Given the description of an element on the screen output the (x, y) to click on. 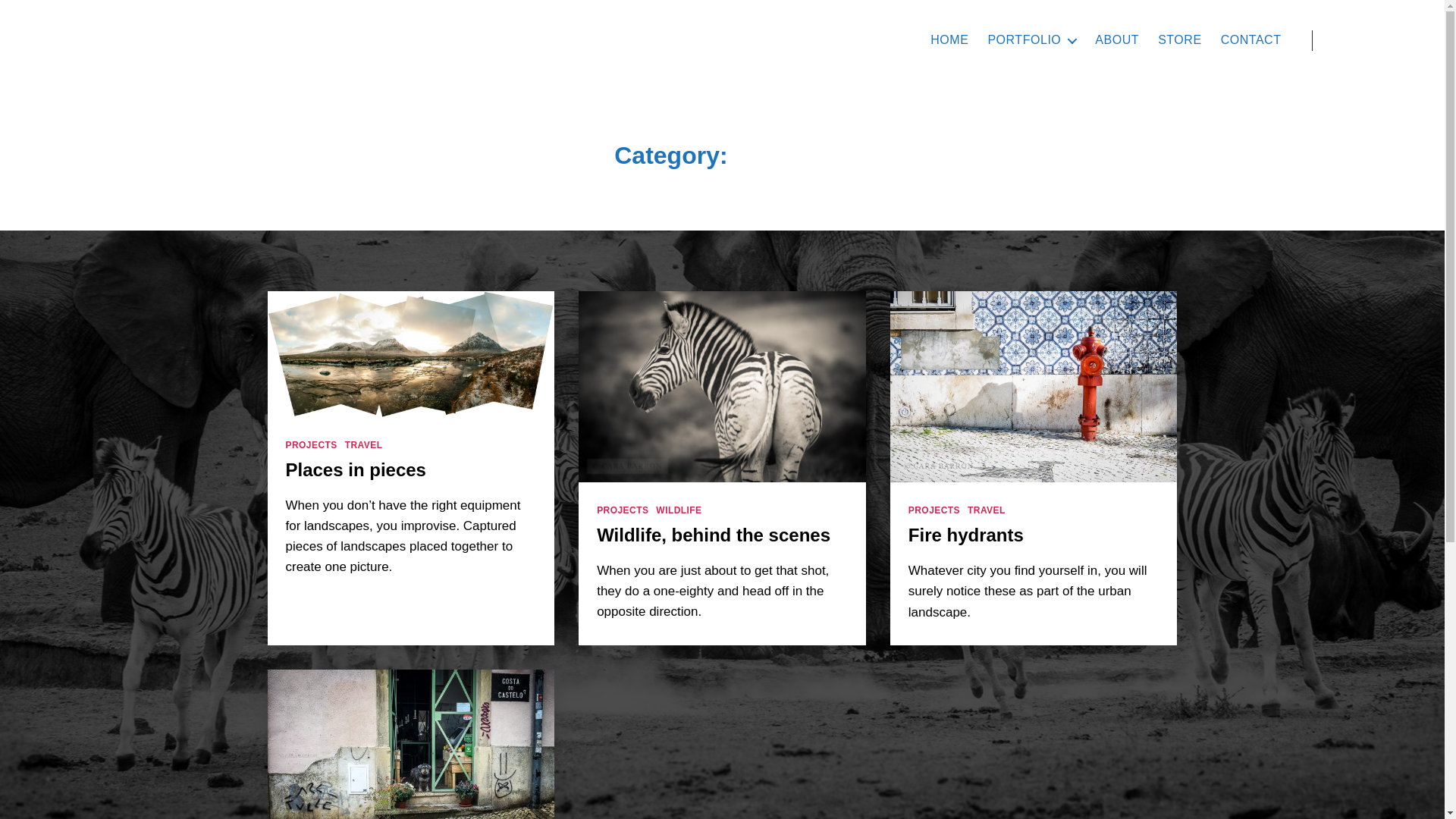
PROJECTS (621, 510)
ABOUT (1116, 39)
Places in pieces (355, 469)
PORTFOLIO (1031, 39)
PROJECTS (310, 445)
HOME (949, 39)
PROJECTS (933, 510)
Search (1350, 39)
TRAVEL (987, 510)
STORE (1179, 39)
Fire hydrants (965, 534)
WILDLIFE (678, 510)
Wildlife, behind the scenes (712, 534)
TRAVEL (363, 445)
CONTACT (1251, 39)
